Given the description of an element on the screen output the (x, y) to click on. 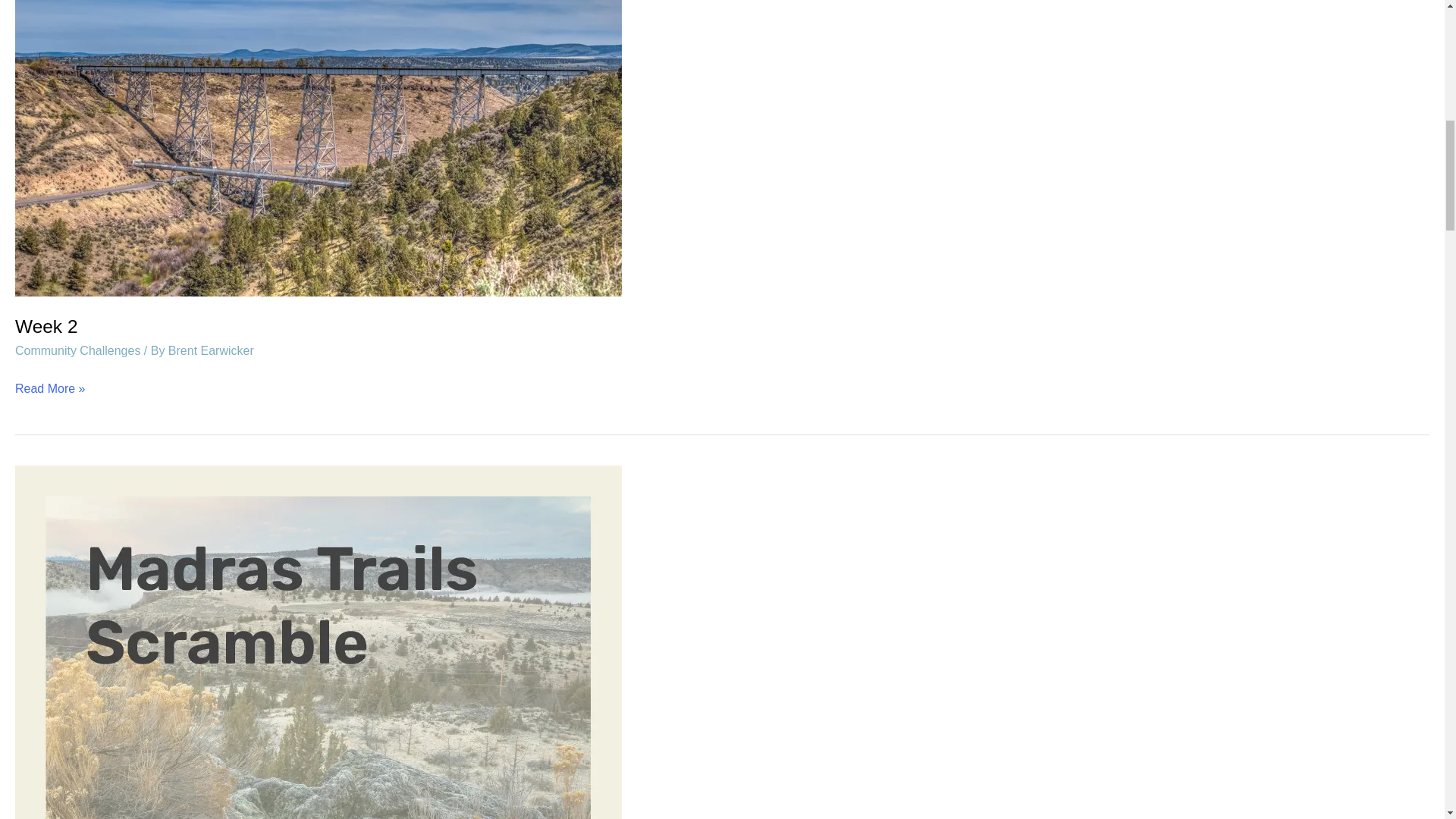
Brent Earwicker (210, 350)
Community Challenges (76, 350)
View all posts by Brent Earwicker (210, 350)
Week 2 (46, 326)
